Given the description of an element on the screen output the (x, y) to click on. 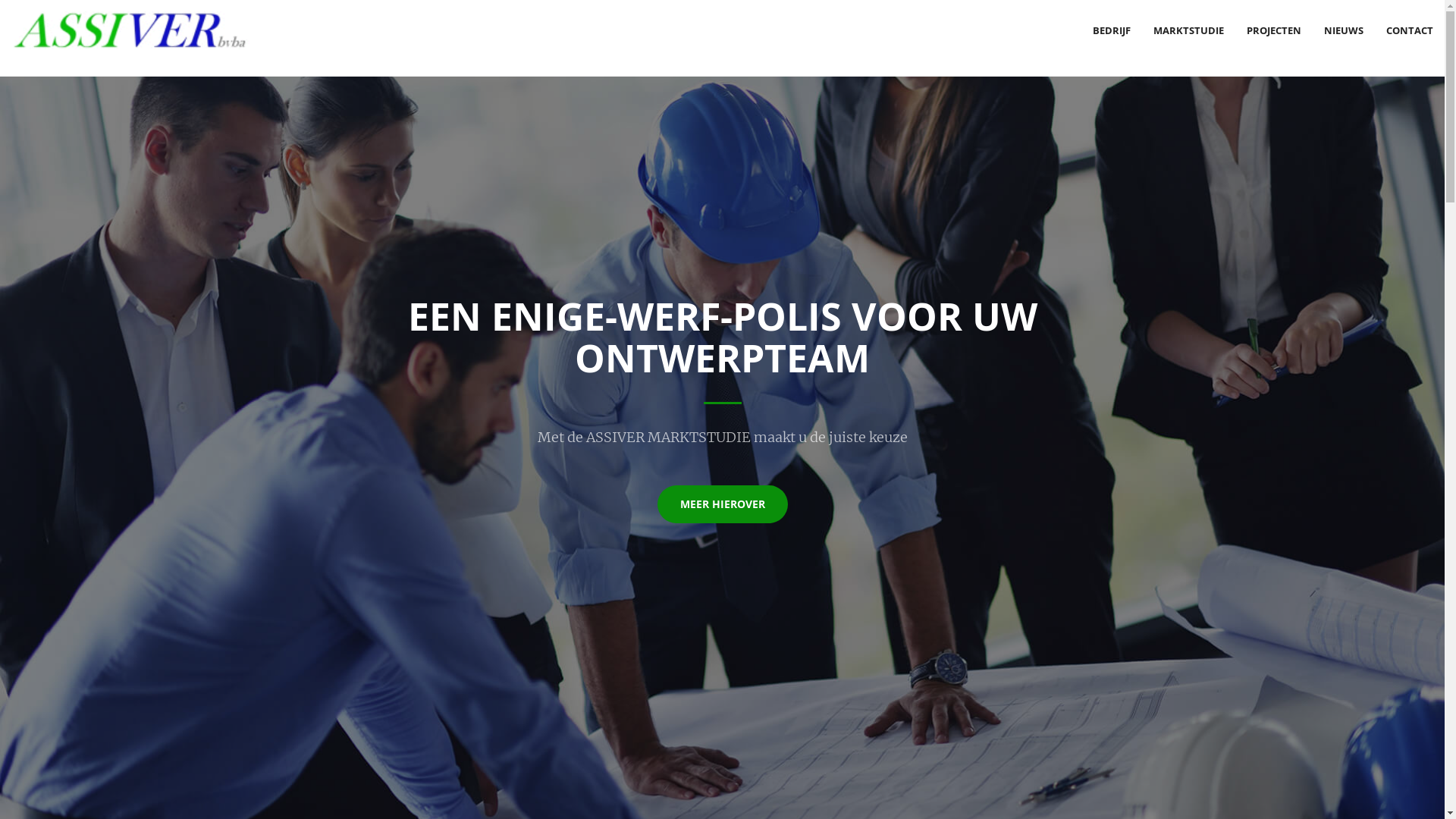
PROJECTEN Element type: text (1273, 30)
MARKTSTUDIE Element type: text (1188, 30)
CONTACT Element type: text (1409, 30)
BEDRIJF Element type: text (1111, 30)
MEER HIEROVER Element type: text (721, 504)
NIEUWS Element type: text (1343, 30)
